Given the description of an element on the screen output the (x, y) to click on. 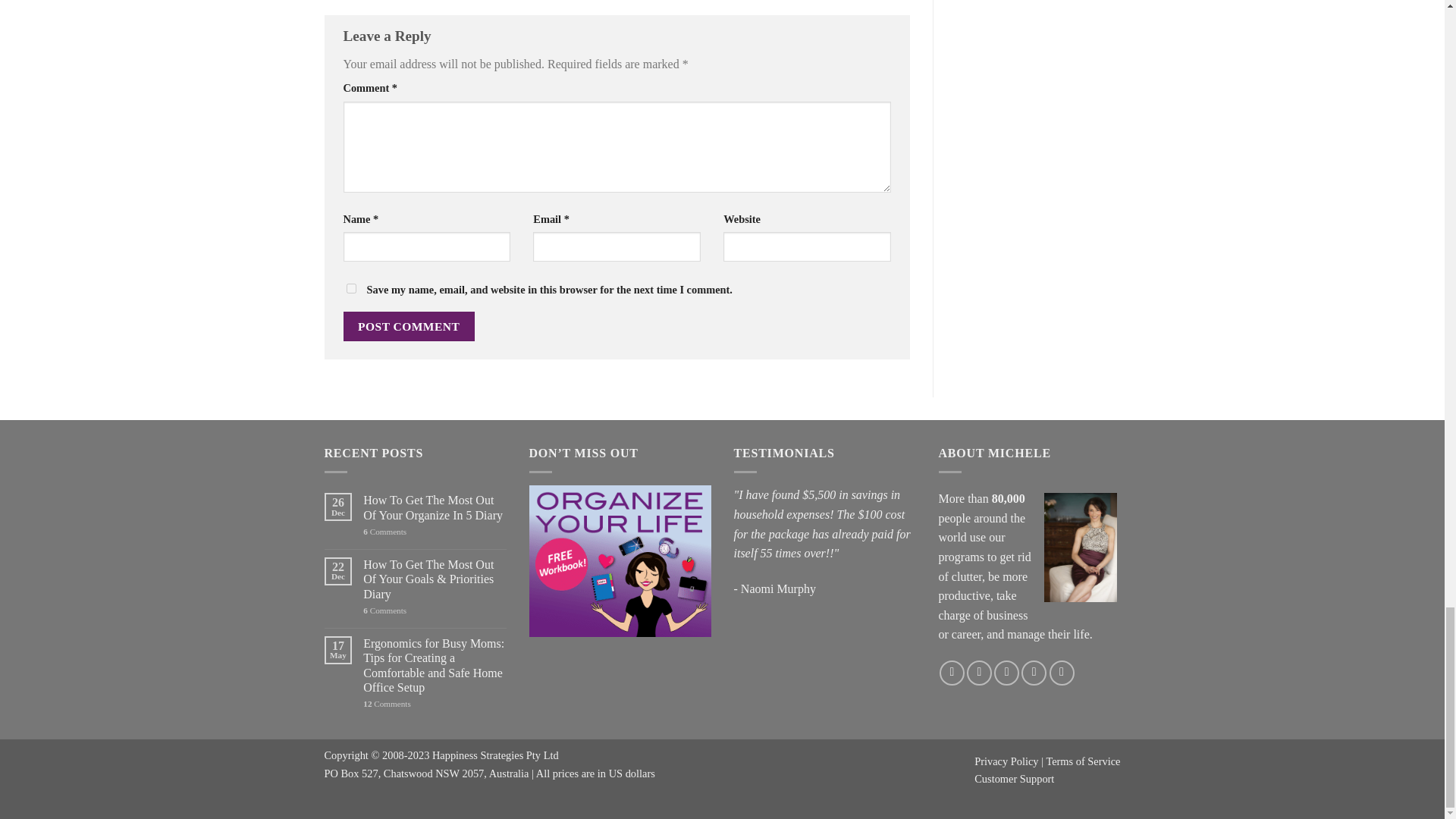
Follow on Facebook (951, 672)
How To Get The Most Out Of Your Organize In 5 Diary (433, 507)
Post Comment (408, 326)
yes (350, 288)
